Given the description of an element on the screen output the (x, y) to click on. 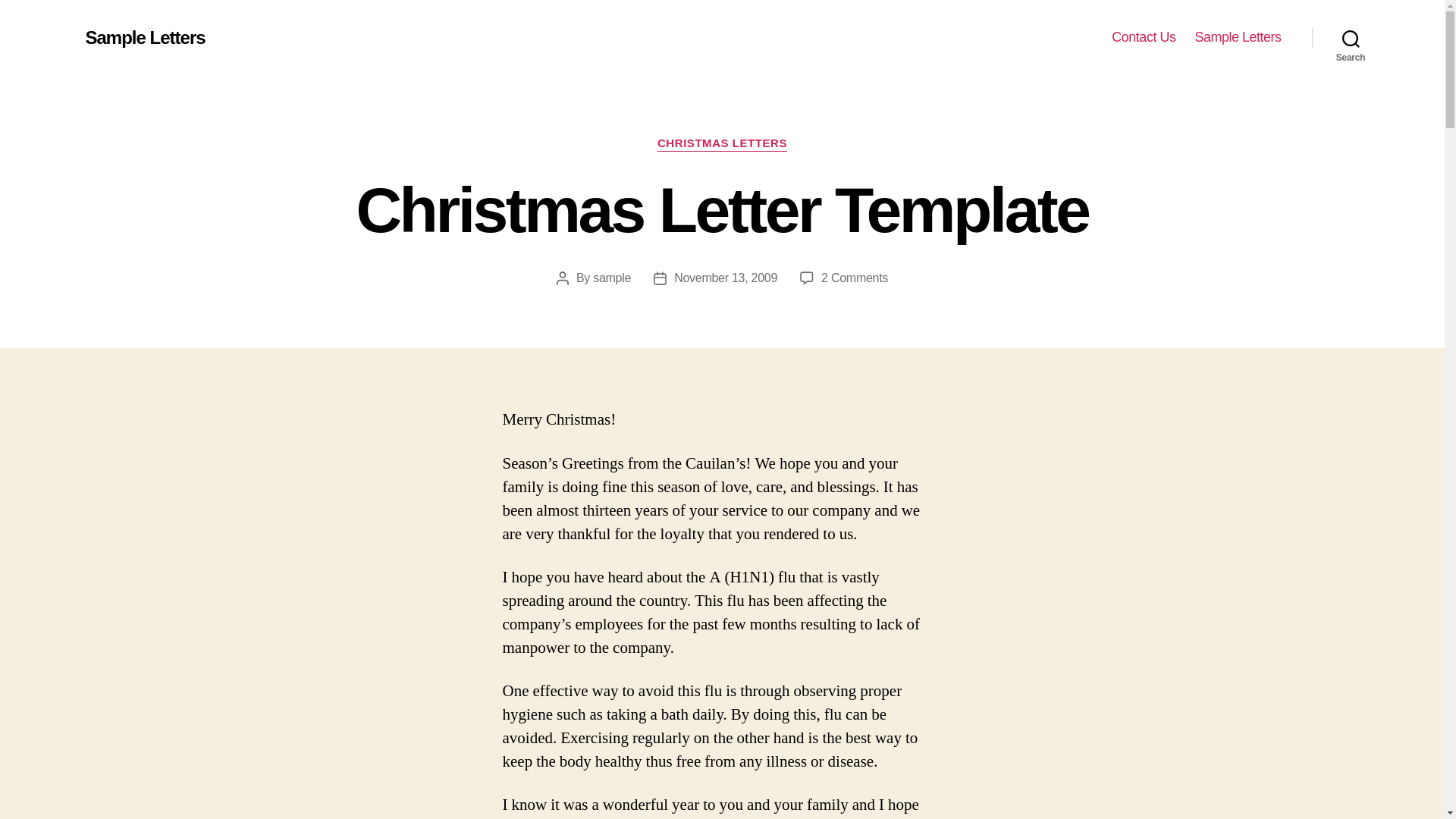
sample (611, 277)
Sample Letters (144, 37)
Search (1350, 37)
CHRISTMAS LETTERS (722, 143)
Contact Us (1143, 37)
November 13, 2009 (725, 277)
Sample Letters (854, 277)
